Given the description of an element on the screen output the (x, y) to click on. 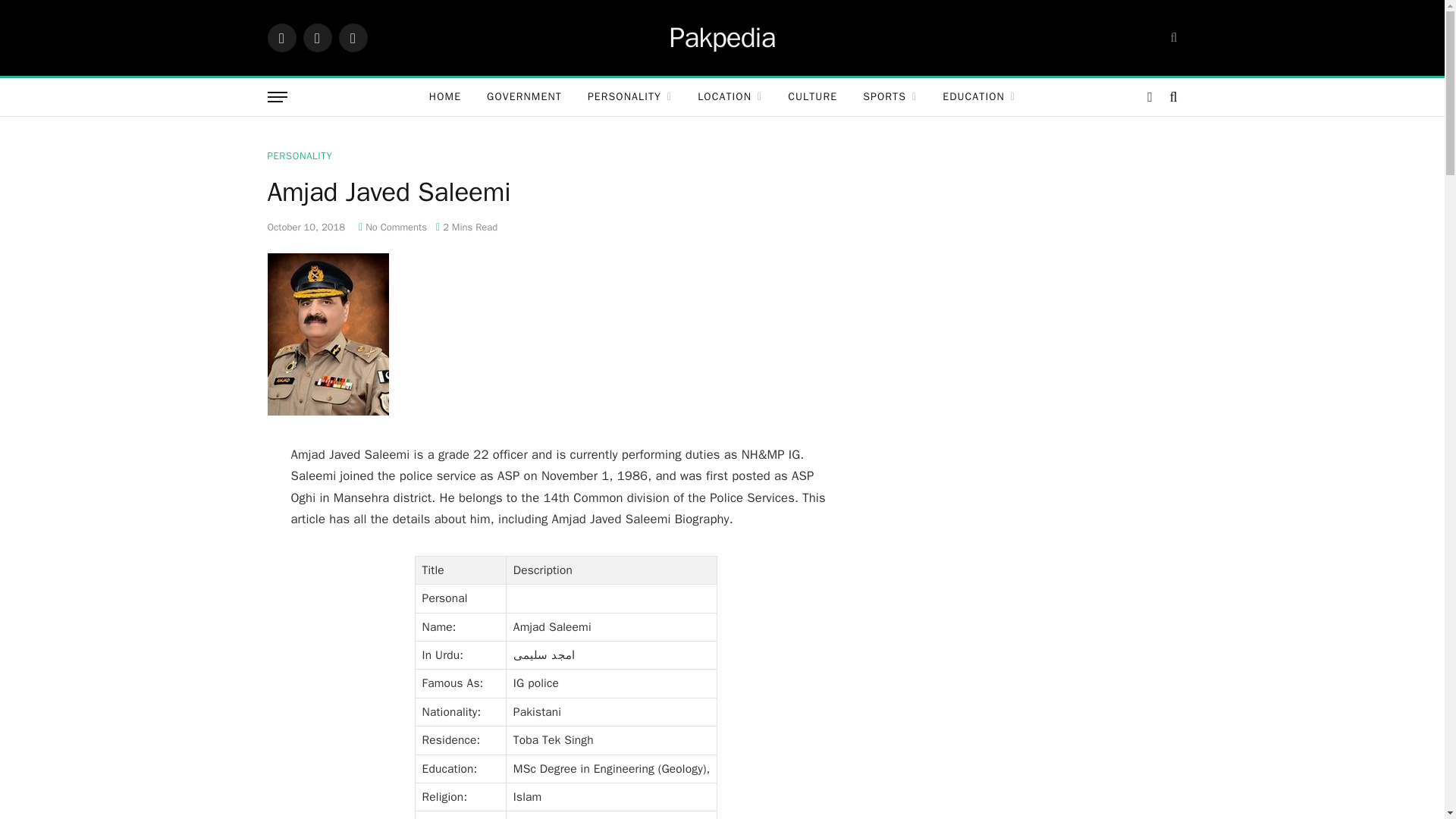
Amjad Javed Saleemi (327, 411)
Switch to Dark Design - easier on eyes. (1149, 97)
Pakpedia (722, 37)
